Given the description of an element on the screen output the (x, y) to click on. 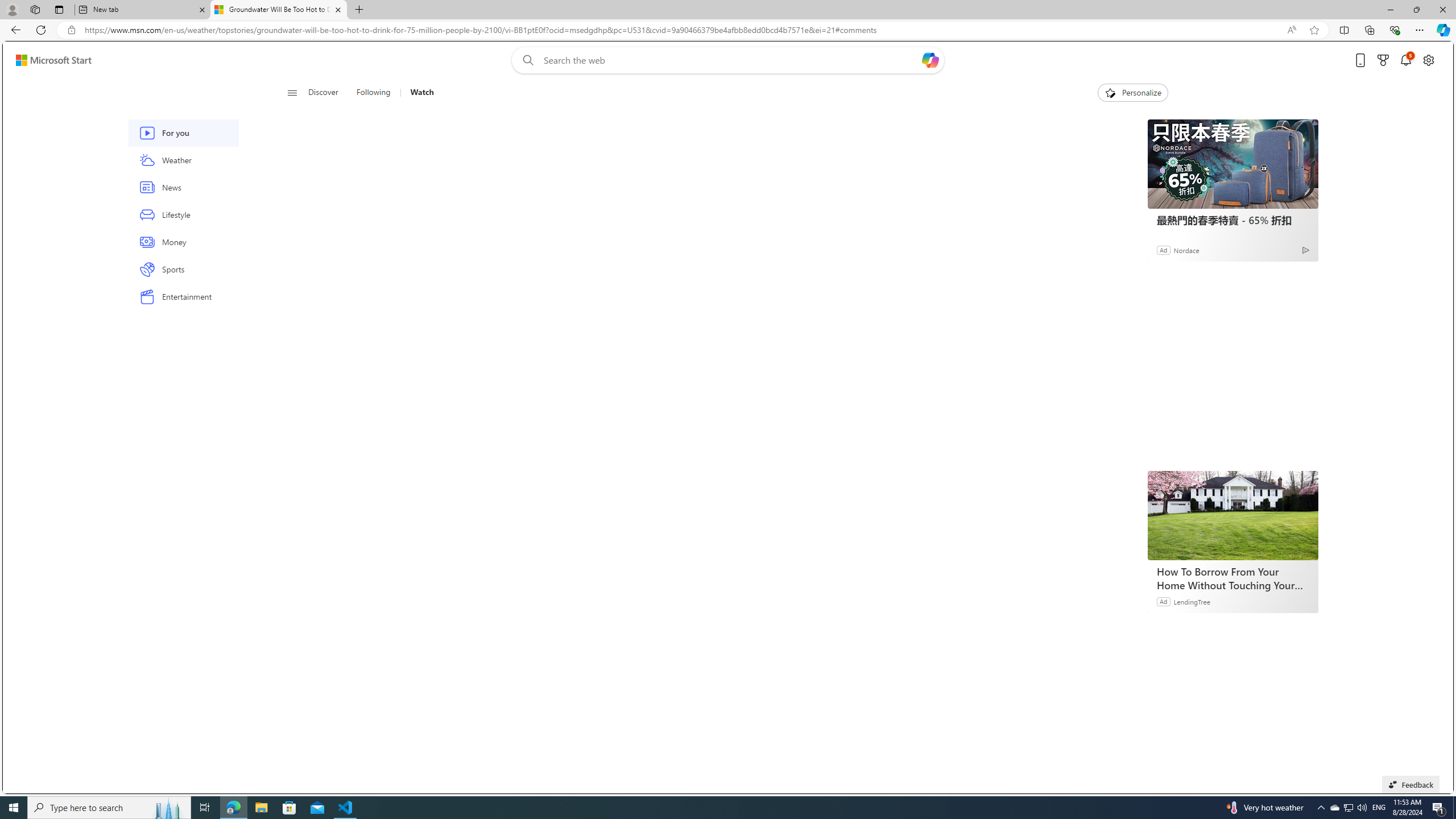
Class: button-glyph (292, 92)
Skip to footer (46, 59)
Microsoft rewards (1382, 60)
Web search (526, 60)
